Given the description of an element on the screen output the (x, y) to click on. 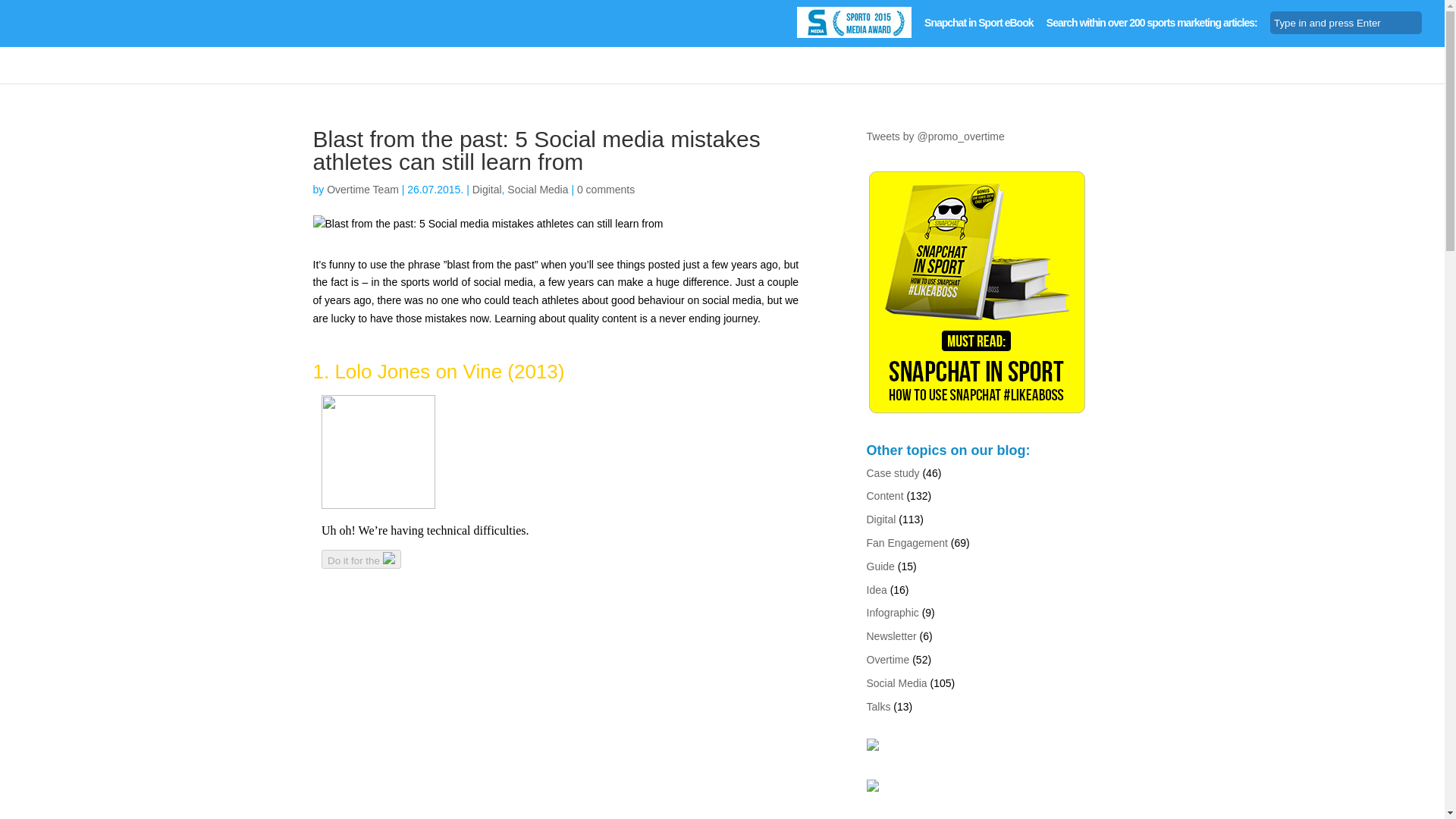
Search within over 200 sports marketing articles: (1151, 27)
Posts by Overtime Team (362, 189)
About us (1334, 65)
Digital (880, 519)
Idea (876, 589)
Digital (486, 189)
Content (884, 495)
Contact (1400, 65)
Guide (879, 566)
Overtime Team (362, 189)
